Given the description of an element on the screen output the (x, y) to click on. 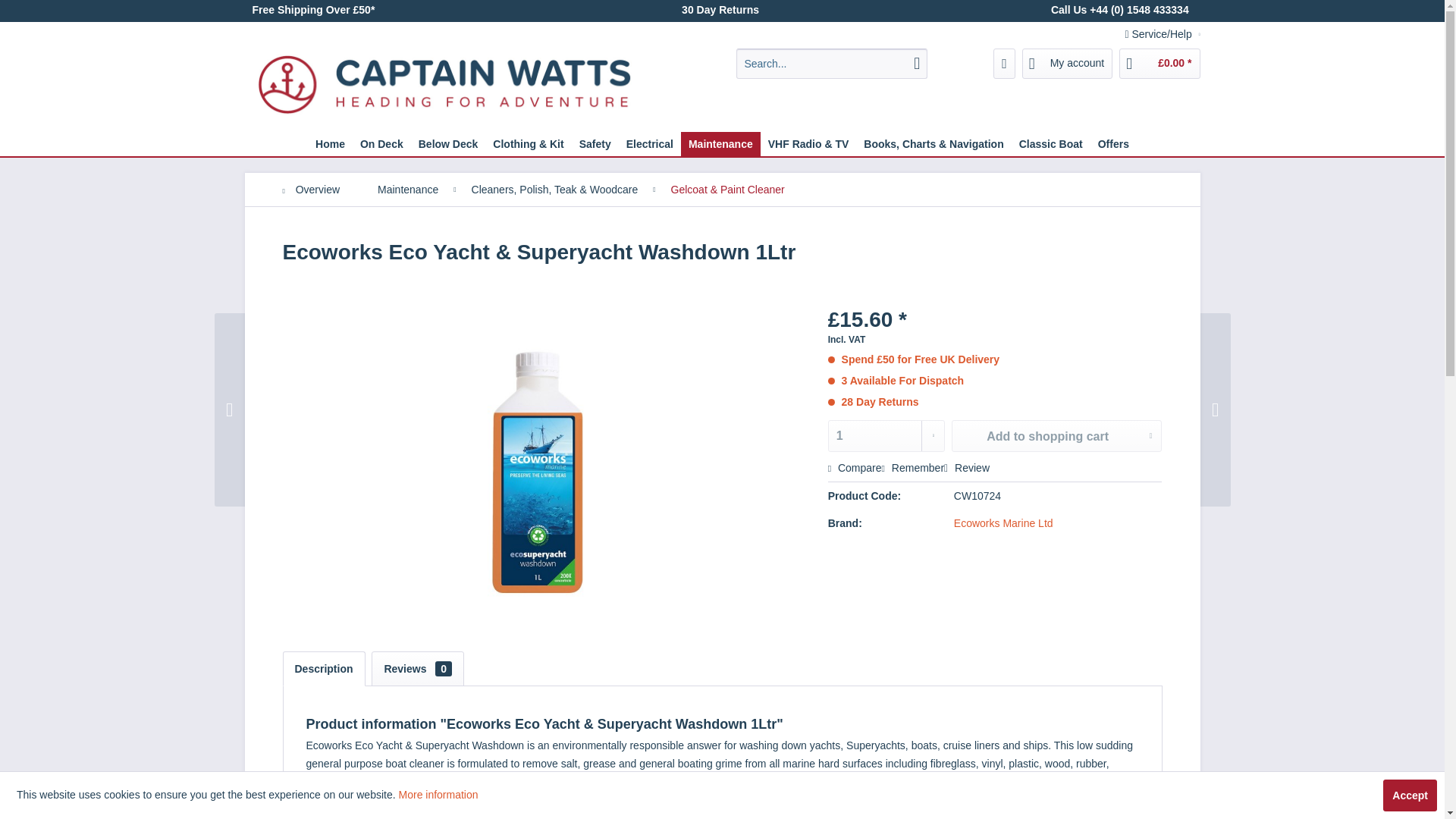
My account (1067, 63)
Shopping cart (1159, 63)
Electrical (649, 143)
My account (1067, 63)
Classic Boat (1050, 143)
Home (329, 143)
Safety (595, 143)
Captain Watts Chandlery - Switch to homepage (444, 86)
On Deck (381, 143)
Offers (1113, 143)
Home (329, 143)
Maintenance (720, 143)
Below Deck (448, 143)
Safety (595, 143)
Safety (595, 143)
